Given the description of an element on the screen output the (x, y) to click on. 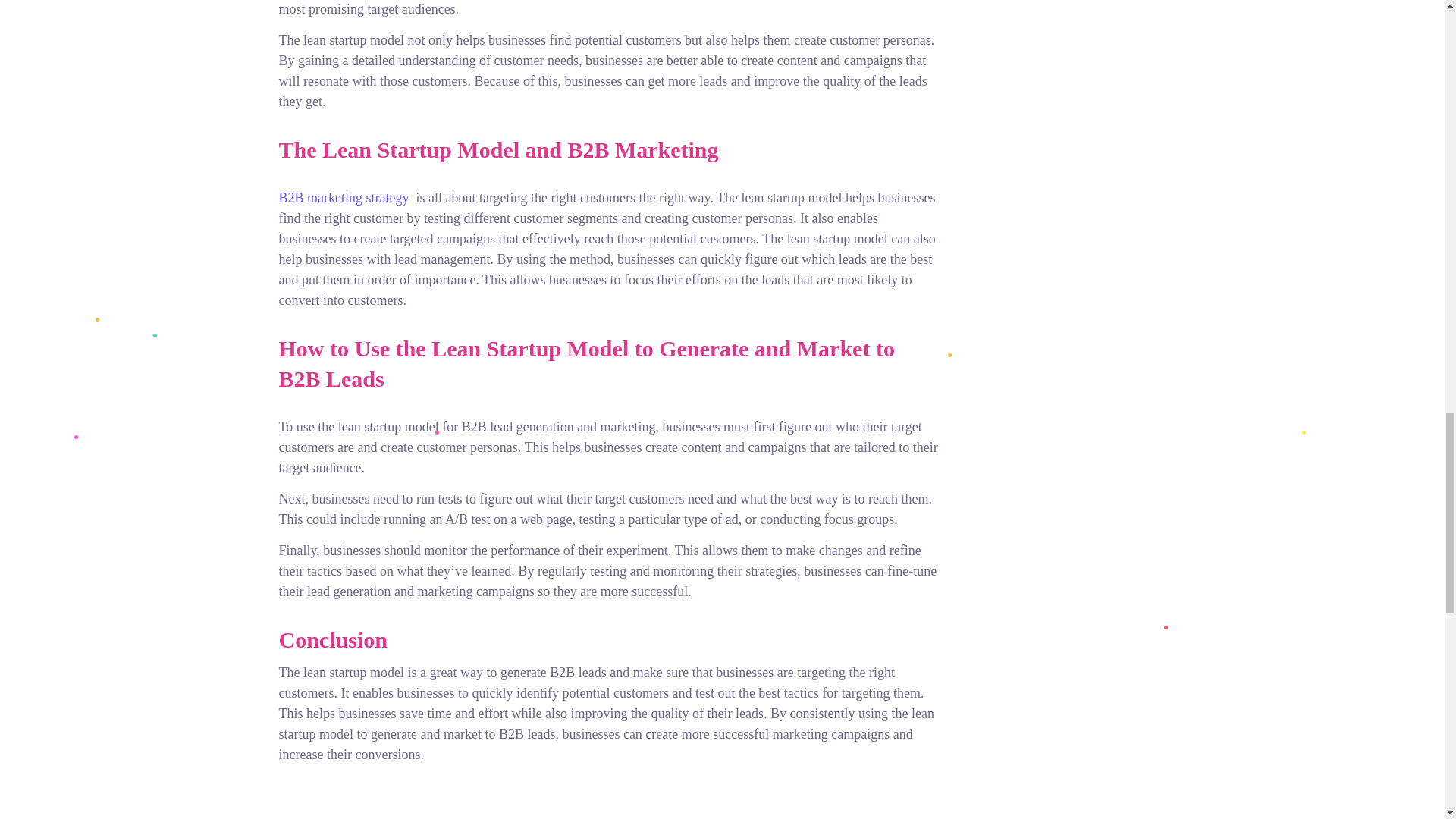
B2B marketing strategy (344, 197)
